Given the description of an element on the screen output the (x, y) to click on. 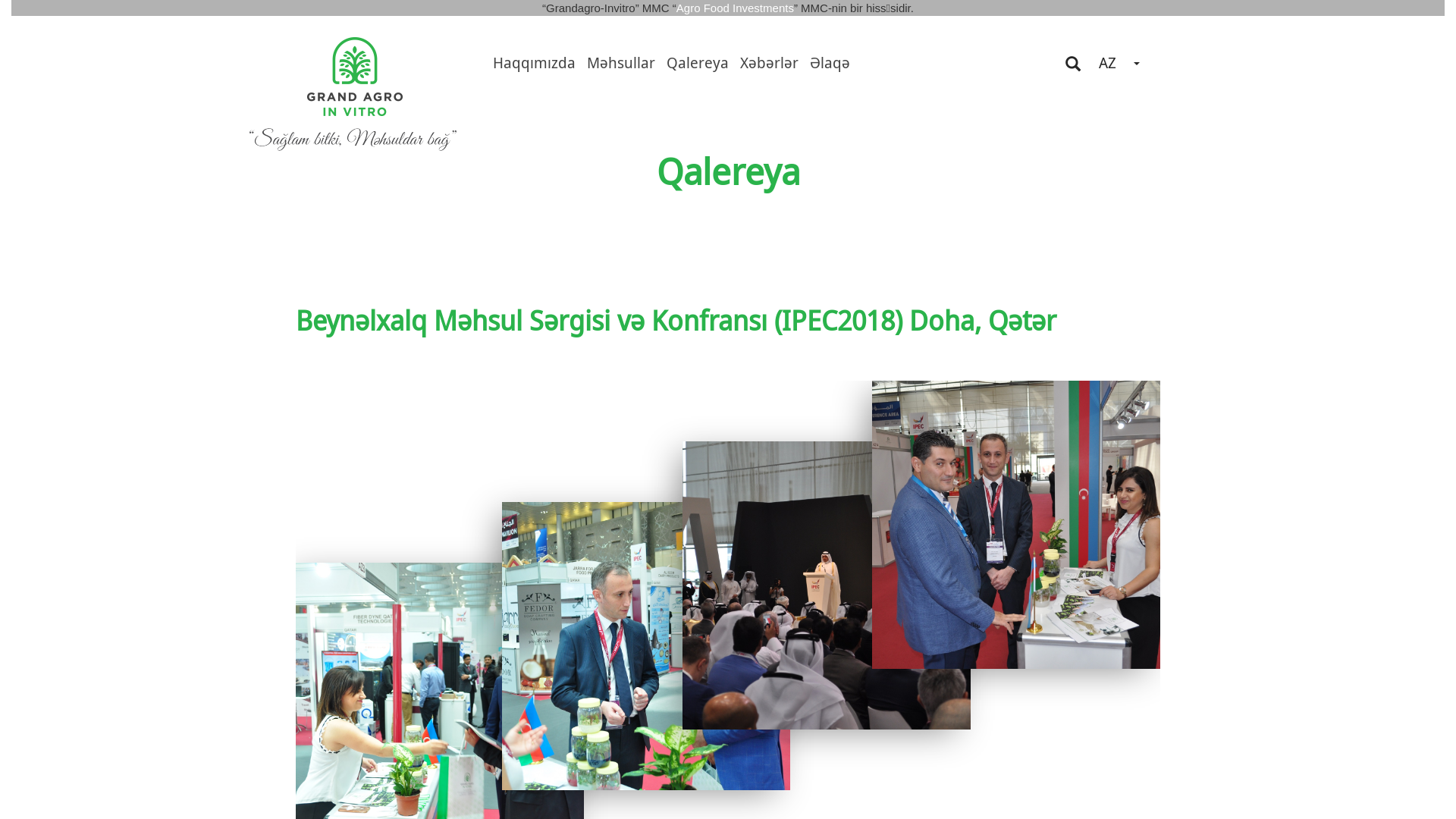
AZ
  Element type: text (1118, 62)
Agro Food Investments Element type: text (734, 7)
Qalereya Element type: text (697, 62)
